Given the description of an element on the screen output the (x, y) to click on. 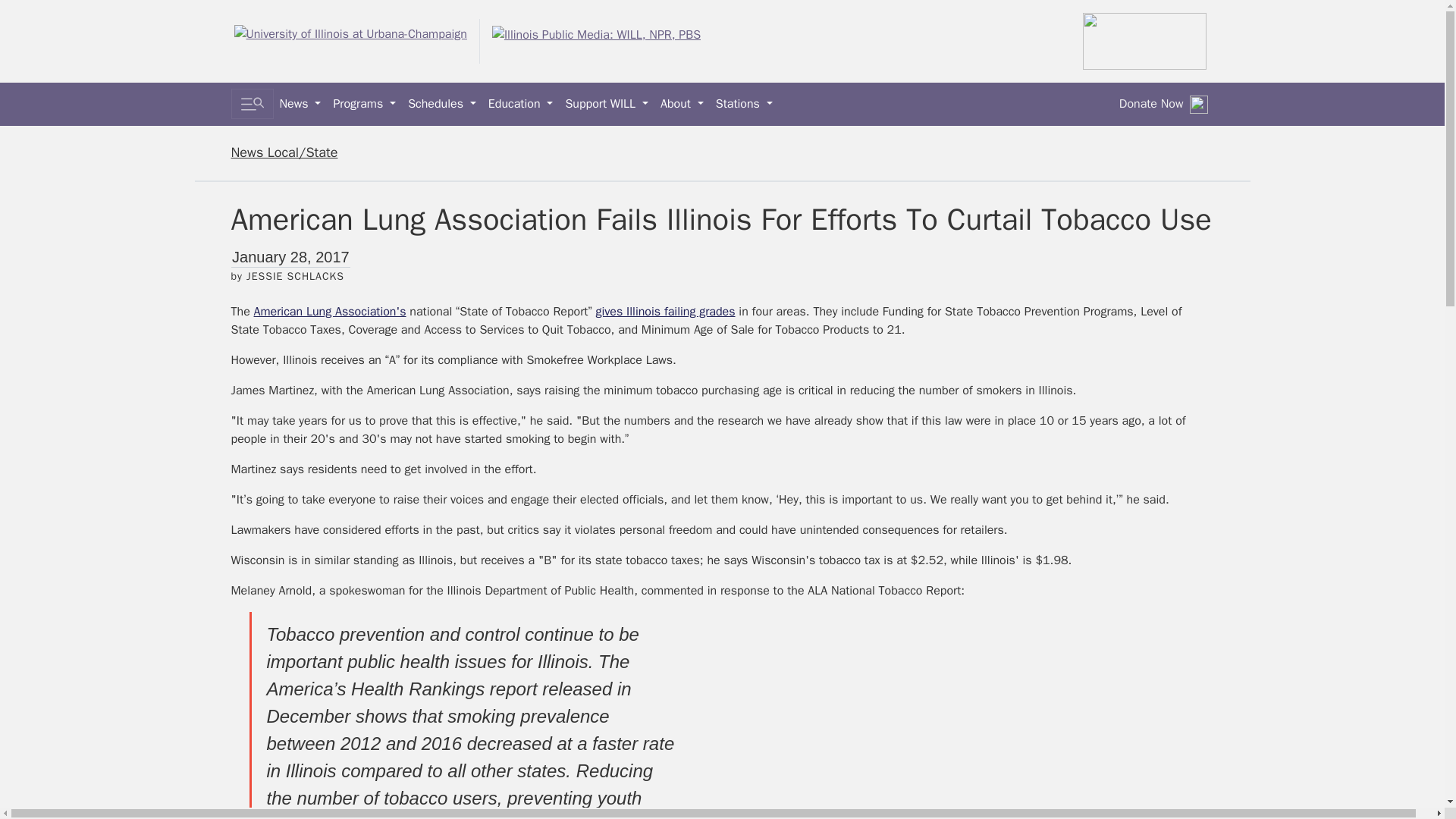
Schedules (441, 103)
All IPM content streams (1144, 41)
Programs (363, 103)
Support WILL (606, 103)
News (299, 103)
Toggle search (251, 103)
Education (520, 103)
